Given the description of an element on the screen output the (x, y) to click on. 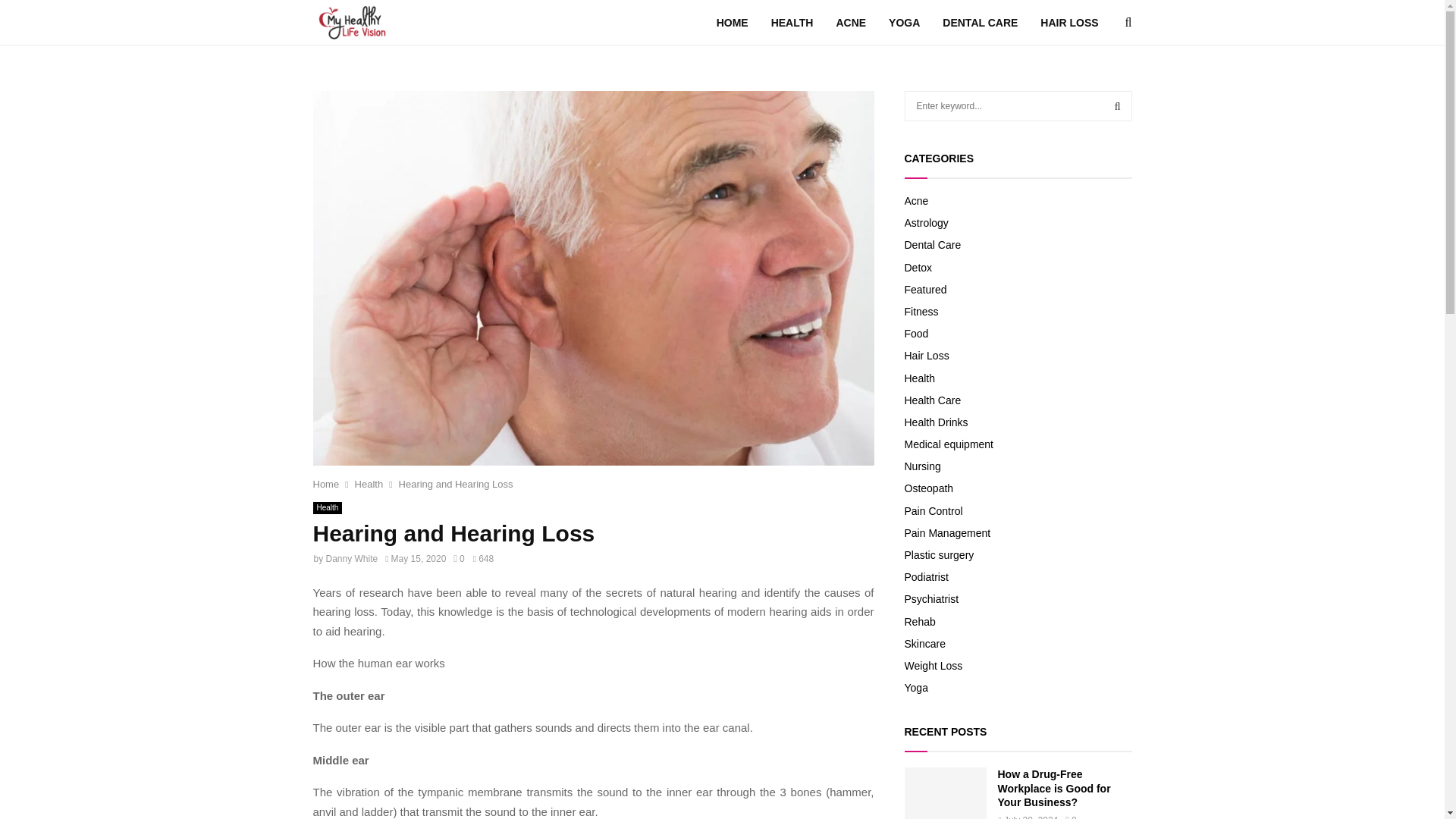
Fitness (920, 311)
Danny White (352, 558)
HAIR LOSS (1069, 22)
Food (916, 333)
Hearing and Hearing Loss (455, 483)
HEALTH (792, 22)
How a Drug-Free Workplace is Good for Your Business? (944, 793)
DENTAL CARE (979, 22)
Astrology (925, 223)
Detox (917, 267)
Dental Care (932, 244)
Health (369, 483)
SEARCH (1117, 105)
Featured (925, 289)
0 (458, 558)
